Given the description of an element on the screen output the (x, y) to click on. 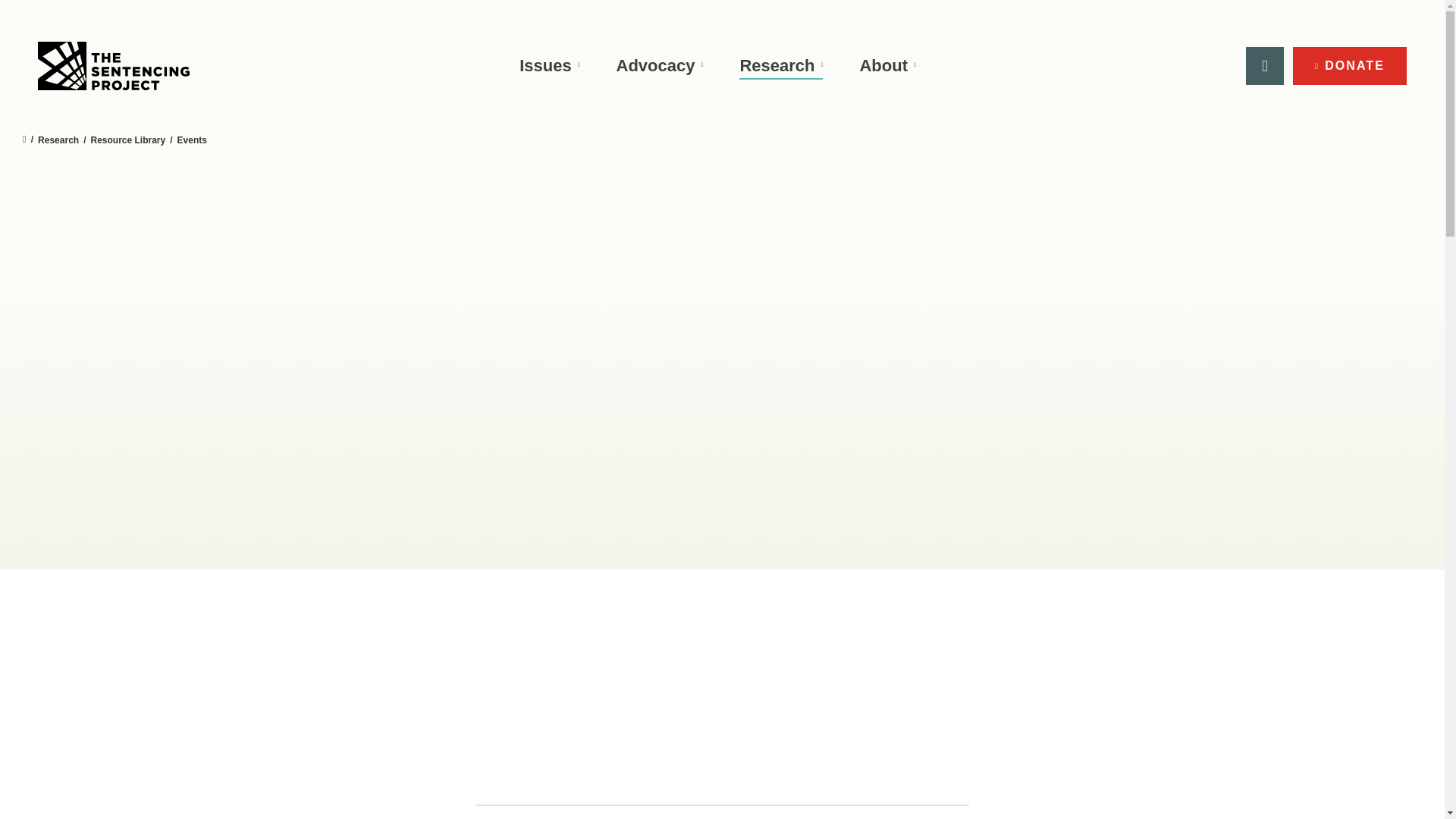
Issues (549, 66)
DONATE (1349, 65)
SKIP TO MAIN CONTENT (17, 14)
Research (780, 66)
About (887, 66)
Advocacy (659, 66)
